Given the description of an element on the screen output the (x, y) to click on. 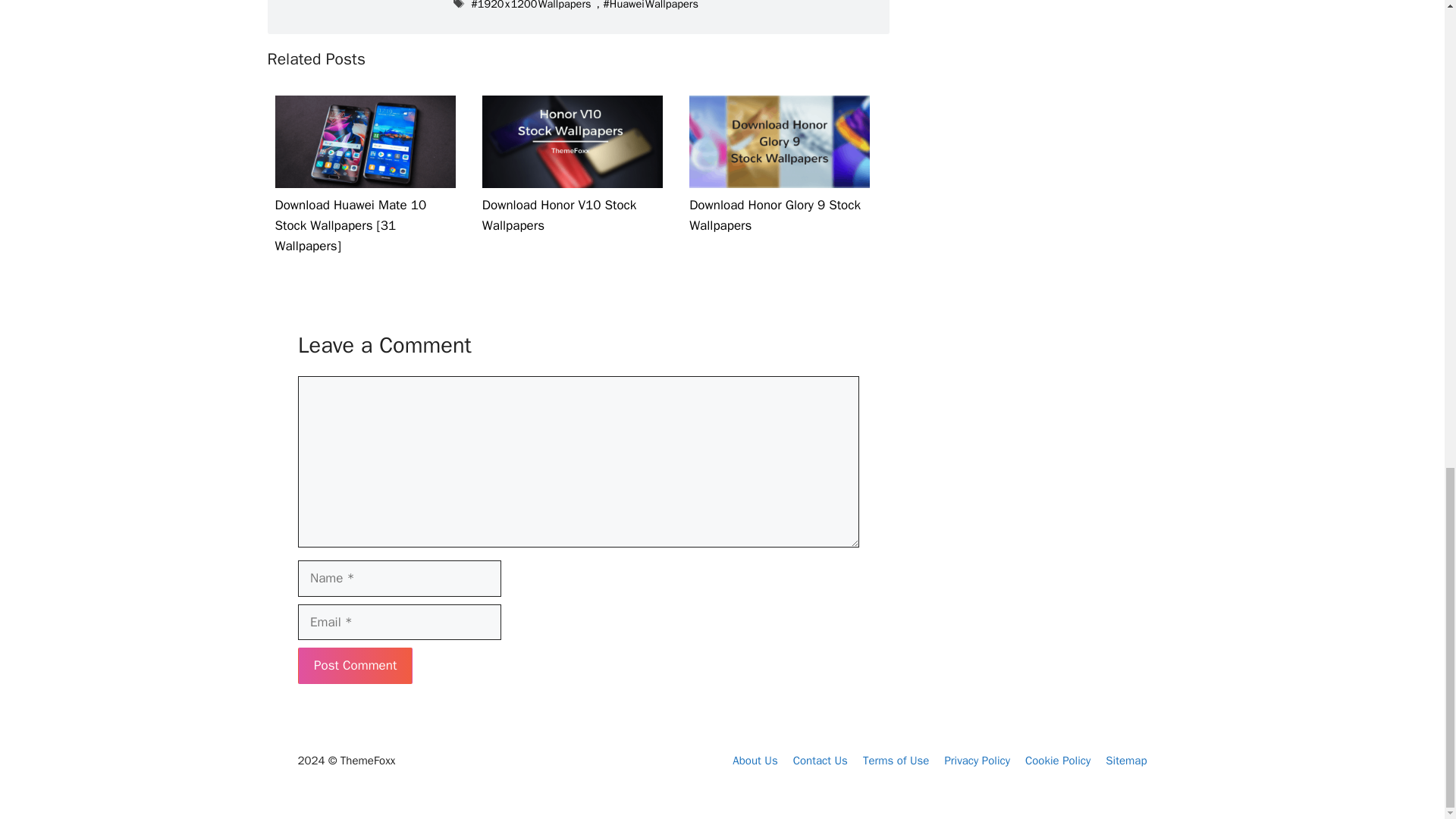
1920 x 1200 Wallpapers (530, 5)
Terms of Use (896, 760)
About Us (754, 760)
Download Honor V10 Stock Wallpapers 9 (571, 141)
Huawei Wallpapers (650, 5)
Post Comment (354, 665)
Download Honor Glory 9 Stock Wallpapers 10 (778, 141)
Contact Us (820, 760)
Post Comment (354, 665)
Download Honor Glory 9 Stock Wallpapers (778, 204)
